Given the description of an element on the screen output the (x, y) to click on. 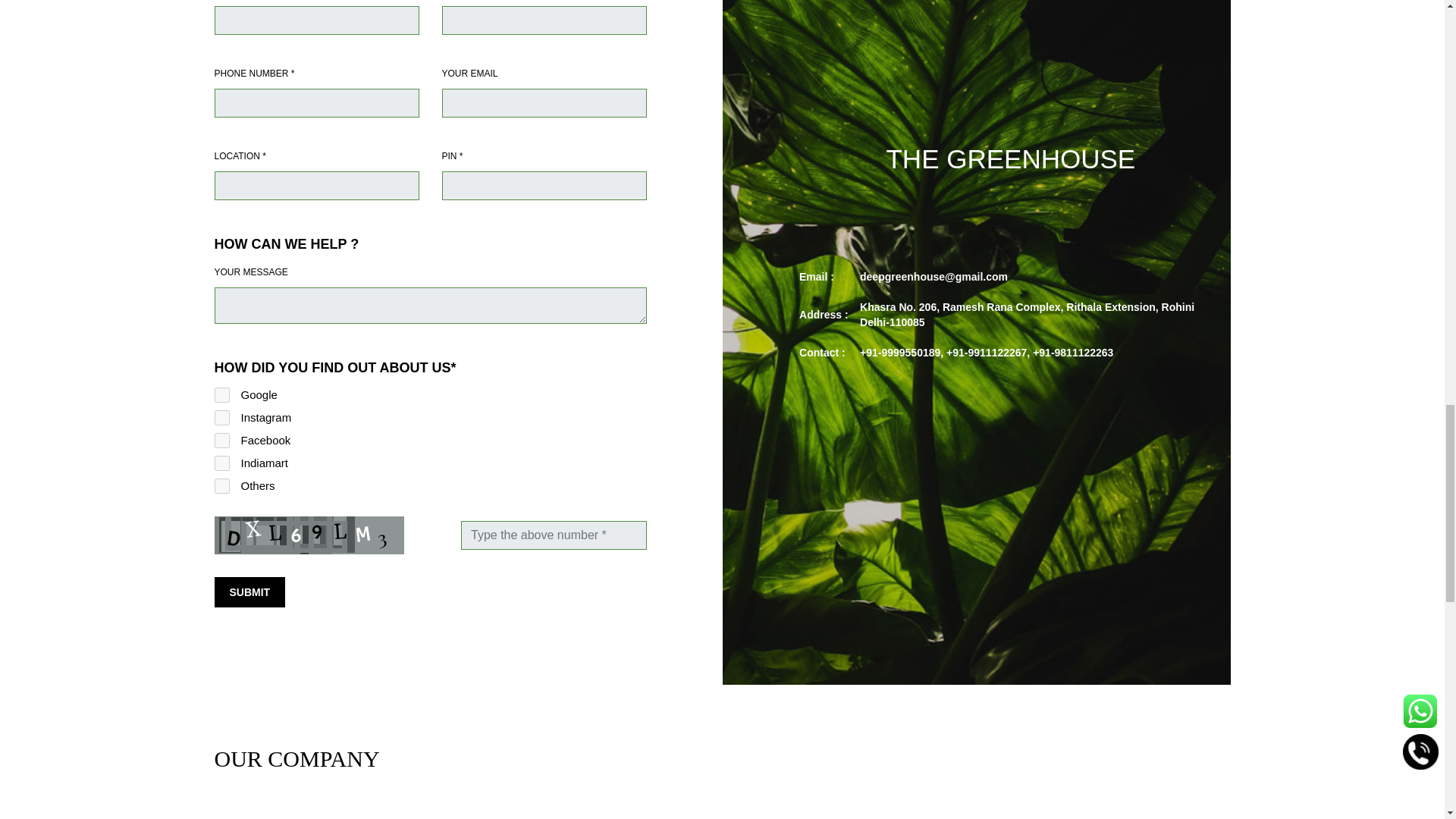
Google (221, 394)
Indiamart (221, 462)
Instagram (221, 417)
SUBMIT (249, 592)
Others (221, 485)
Facebook (221, 440)
